Given the description of an element on the screen output the (x, y) to click on. 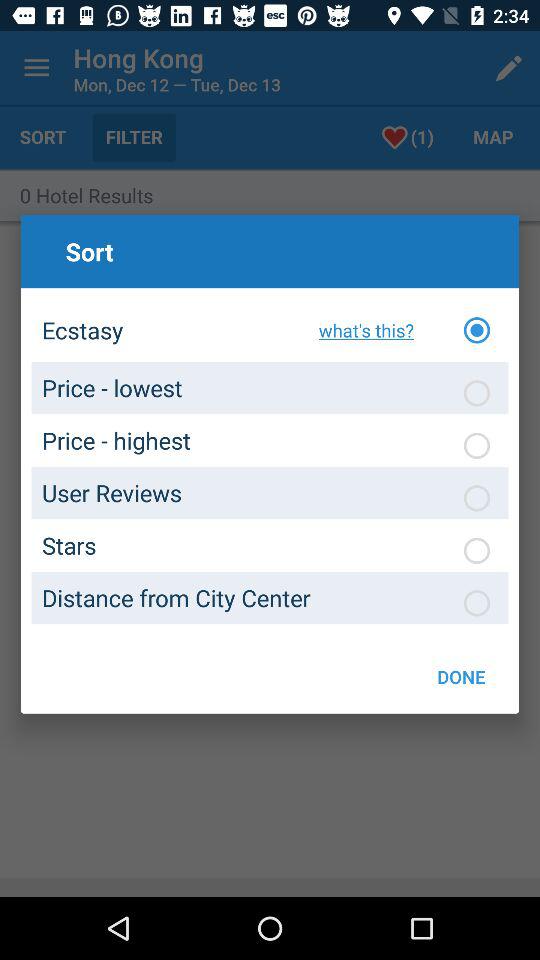
open the item to the right of ecstasy icon (360, 330)
